Given the description of an element on the screen output the (x, y) to click on. 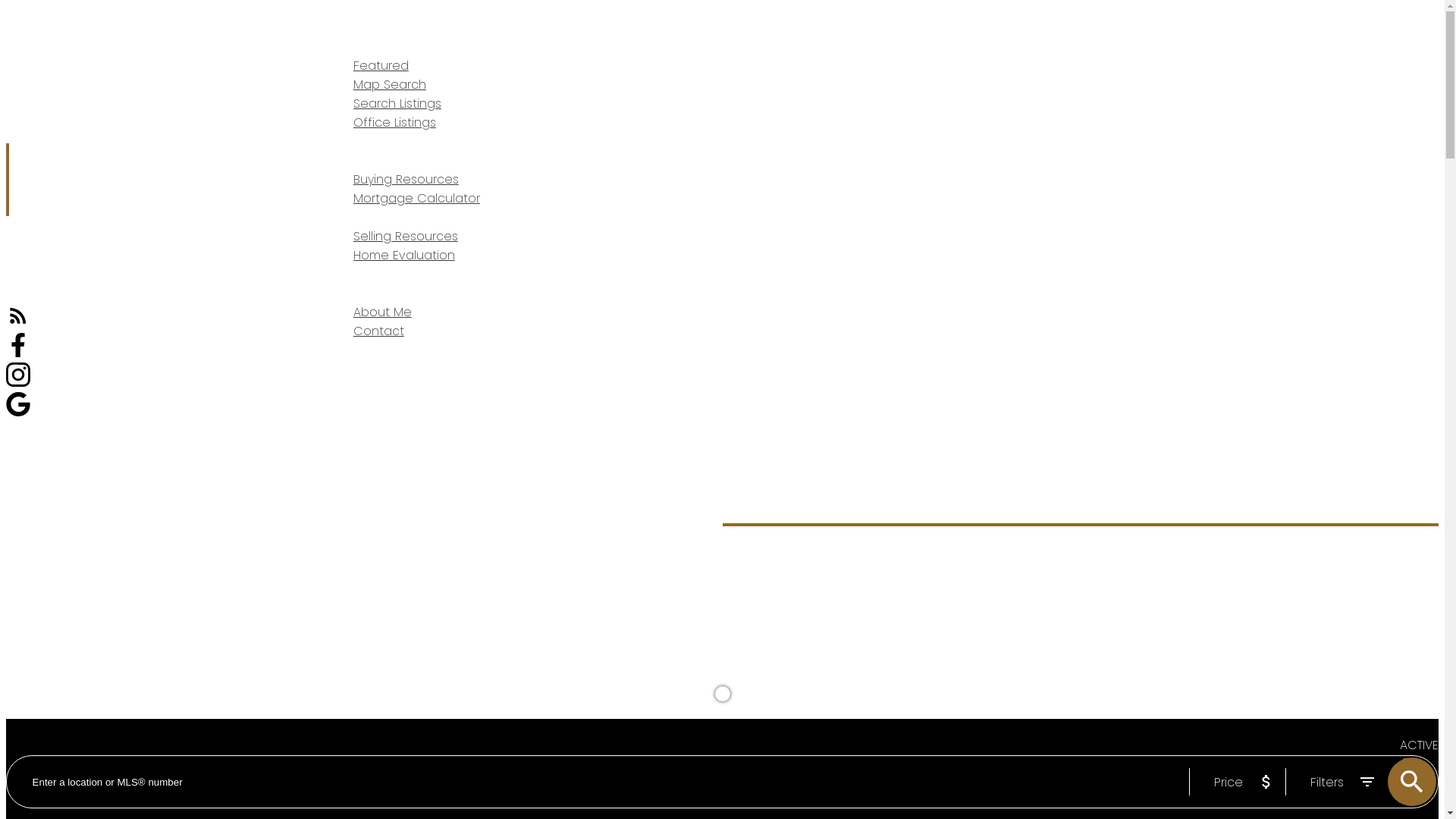
Featured Element type: text (380, 65)
BUYING Element type: text (343, 160)
Buying Resources Element type: text (405, 179)
About Me Element type: text (382, 311)
HOME Element type: text (339, 27)
Search Listings Element type: text (397, 103)
SOLD Element type: text (1418, 782)
ABOUT Element type: text (341, 293)
Map Search Element type: text (389, 84)
  250-730-4663 Element type: text (1388, 179)
Office Listings Element type: text (394, 122)
Contact Element type: text (378, 330)
Home Evaluation Element type: text (404, 254)
MARKET REPORTS Element type: text (370, 141)
Mortgage Calculator Element type: text (416, 198)
Selling Resources Element type: text (405, 235)
SELLING Element type: text (343, 217)
Buy a Home Element type: text (759, 577)
BLOG Element type: text (338, 274)
Email Element type: text (1316, 179)
ACTIVE Element type: text (1418, 744)
PROPERTIES Element type: text (354, 46)
Sell a Home Element type: text (833, 577)
